Given the description of an element on the screen output the (x, y) to click on. 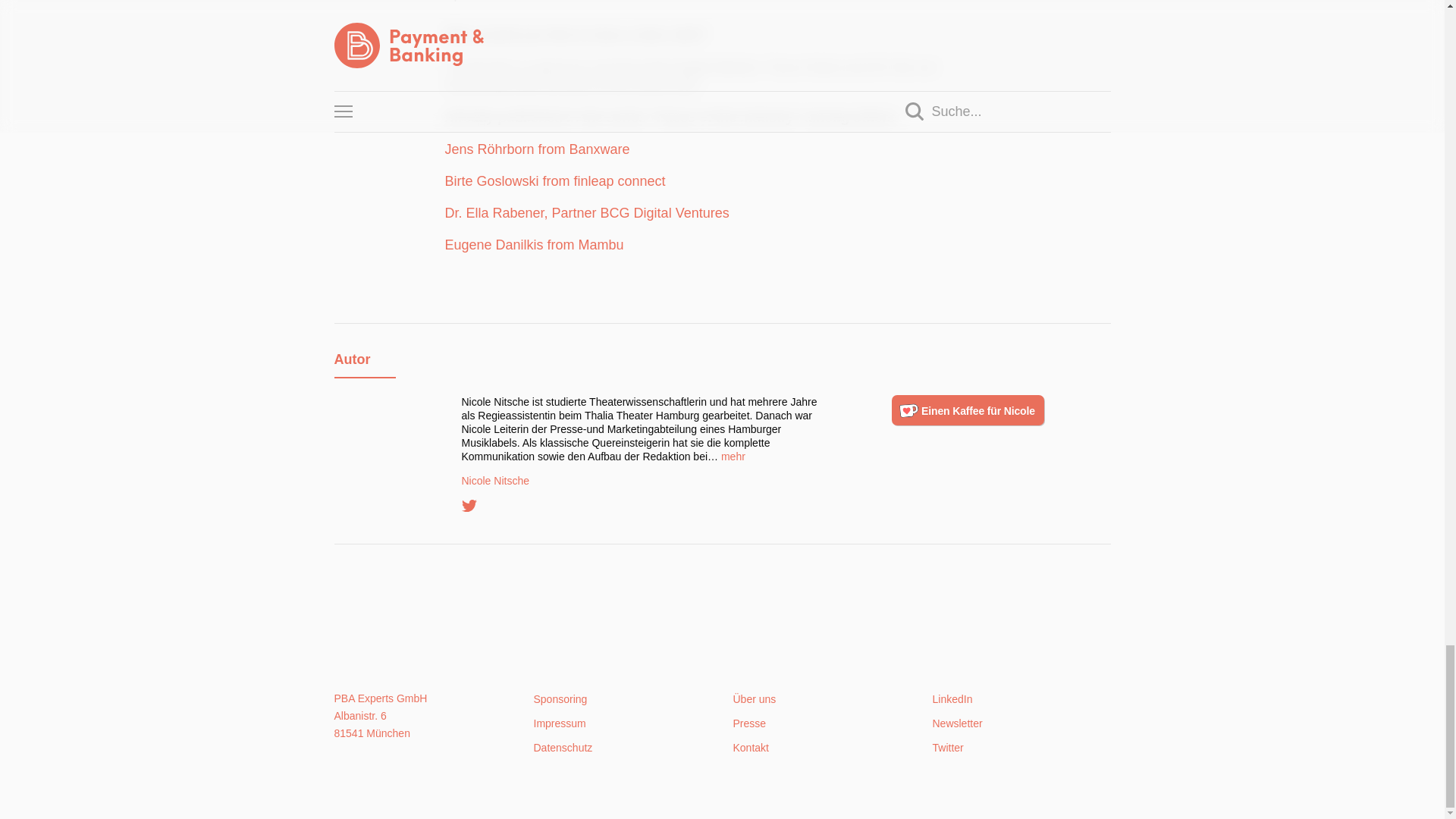
Birte Goslowski from finleap connect (554, 181)
LinkedIn (952, 698)
Impressum (560, 723)
Newsletter (957, 723)
Kontakt (750, 747)
Sponsoring (561, 698)
Support me on ko-fi.com (967, 409)
Nicole Nitsche (643, 481)
Presse (748, 723)
Dr. Ella Rabener, Partner BCG Digital Ventures (586, 212)
mehr (732, 456)
Eugene Danilkis from Mambu (533, 244)
Datenschutz (563, 747)
